Given the description of an element on the screen output the (x, y) to click on. 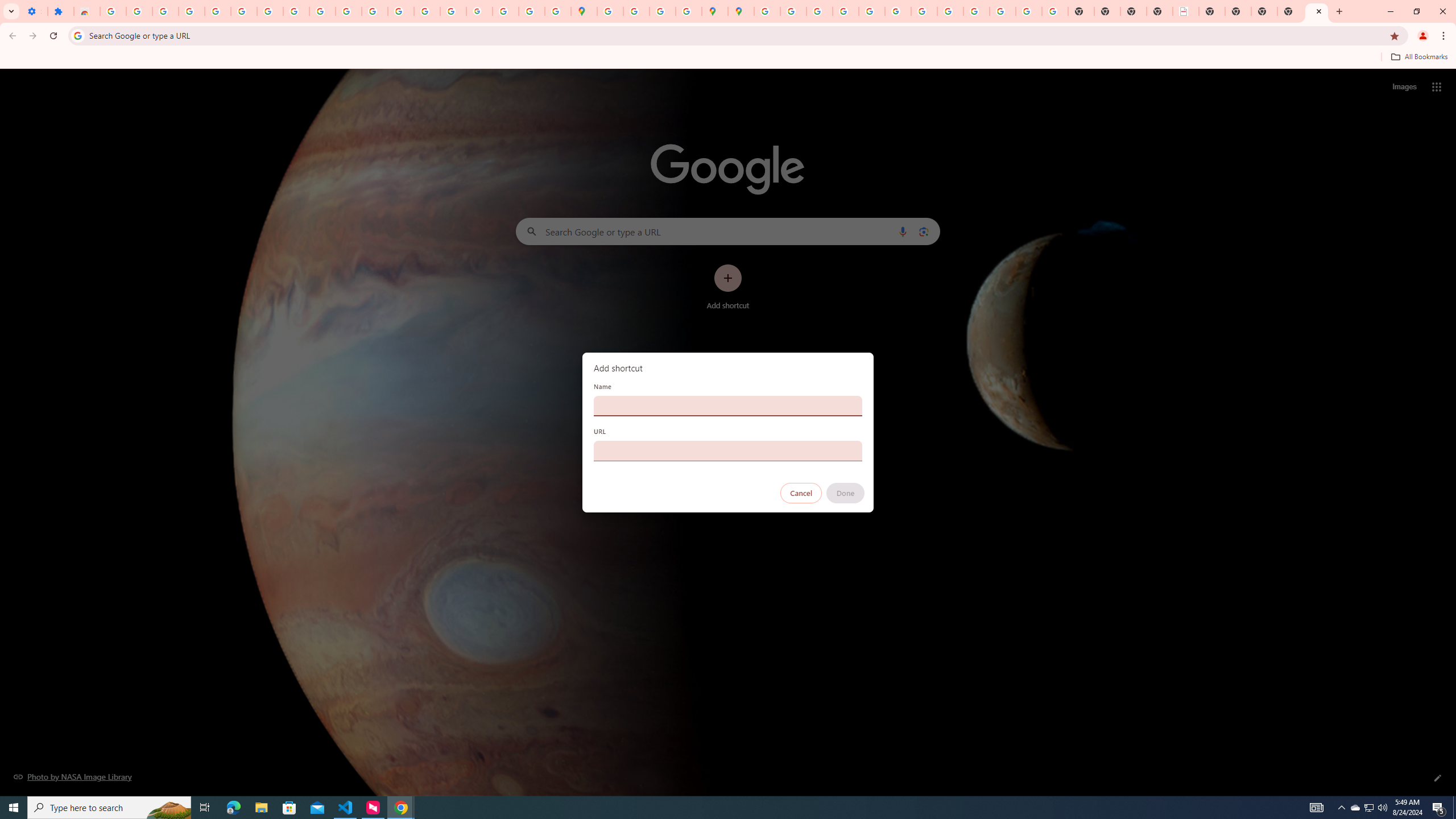
Delete photos & videos - Computer - Google Photos Help (165, 11)
Cancel (801, 493)
Sign in - Google Accounts (112, 11)
Reviews: Helix Fruit Jump Arcade Game (86, 11)
